Given the description of an element on the screen output the (x, y) to click on. 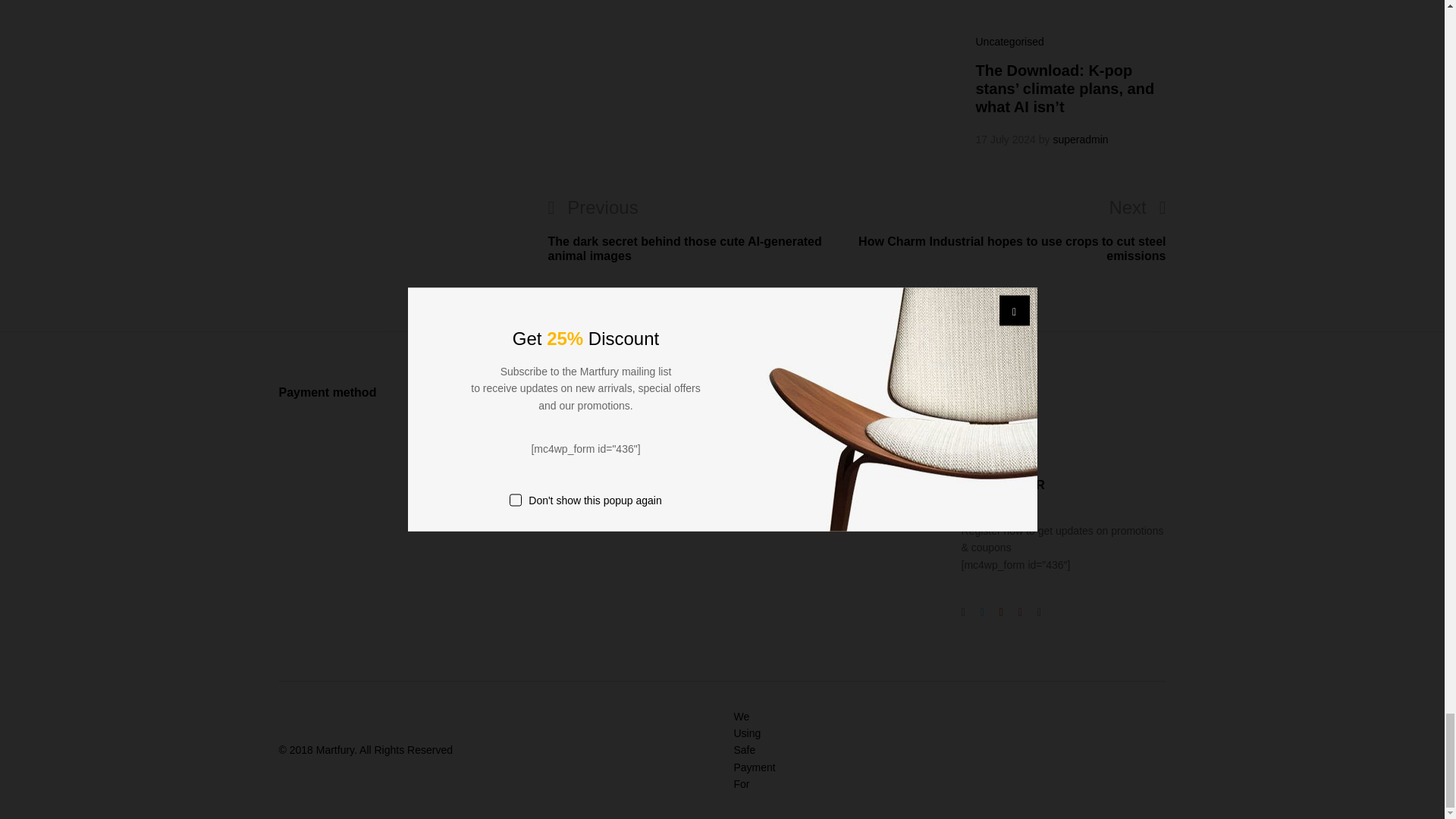
Twitter (981, 611)
Instagram (1000, 430)
Youtube (1019, 611)
Google Plus (1000, 611)
Facebook (962, 611)
Twitter (981, 430)
Facebook (962, 430)
